Given the description of an element on the screen output the (x, y) to click on. 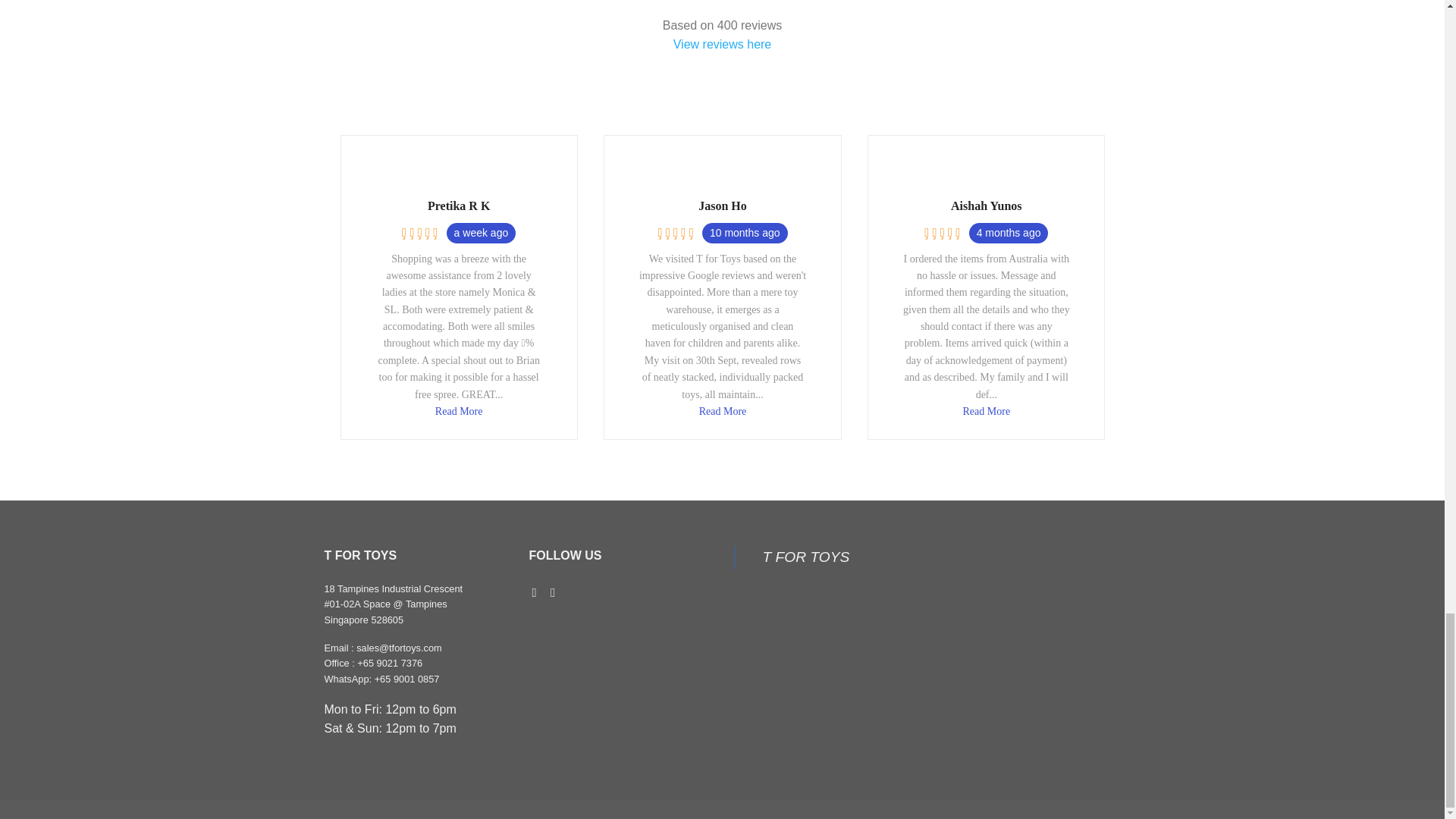
Follow on Facebook (538, 591)
Follow on Instagram (556, 591)
